Given the description of an element on the screen output the (x, y) to click on. 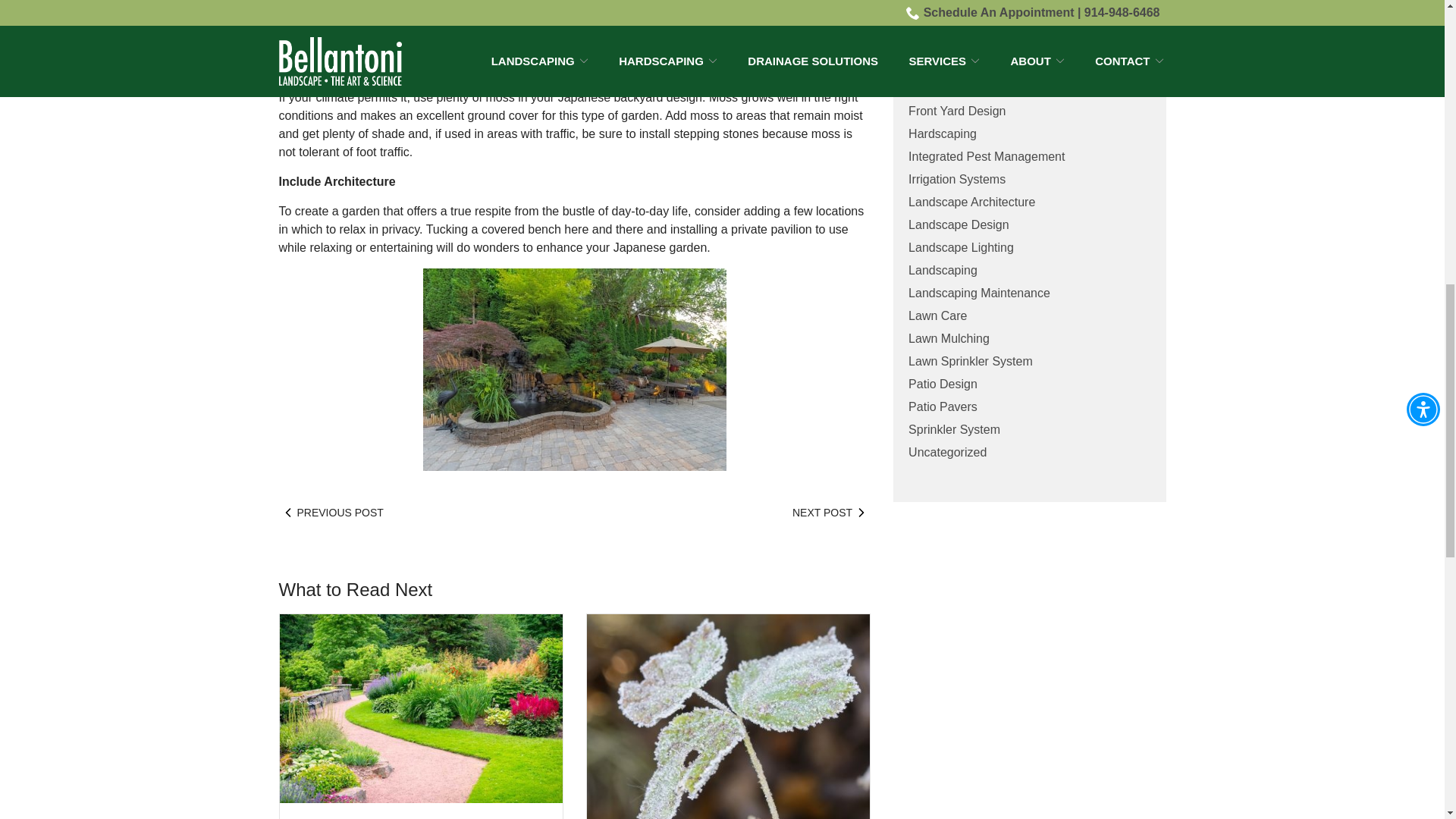
Designing A Japanese Garden (574, 369)
